Given the description of an element on the screen output the (x, y) to click on. 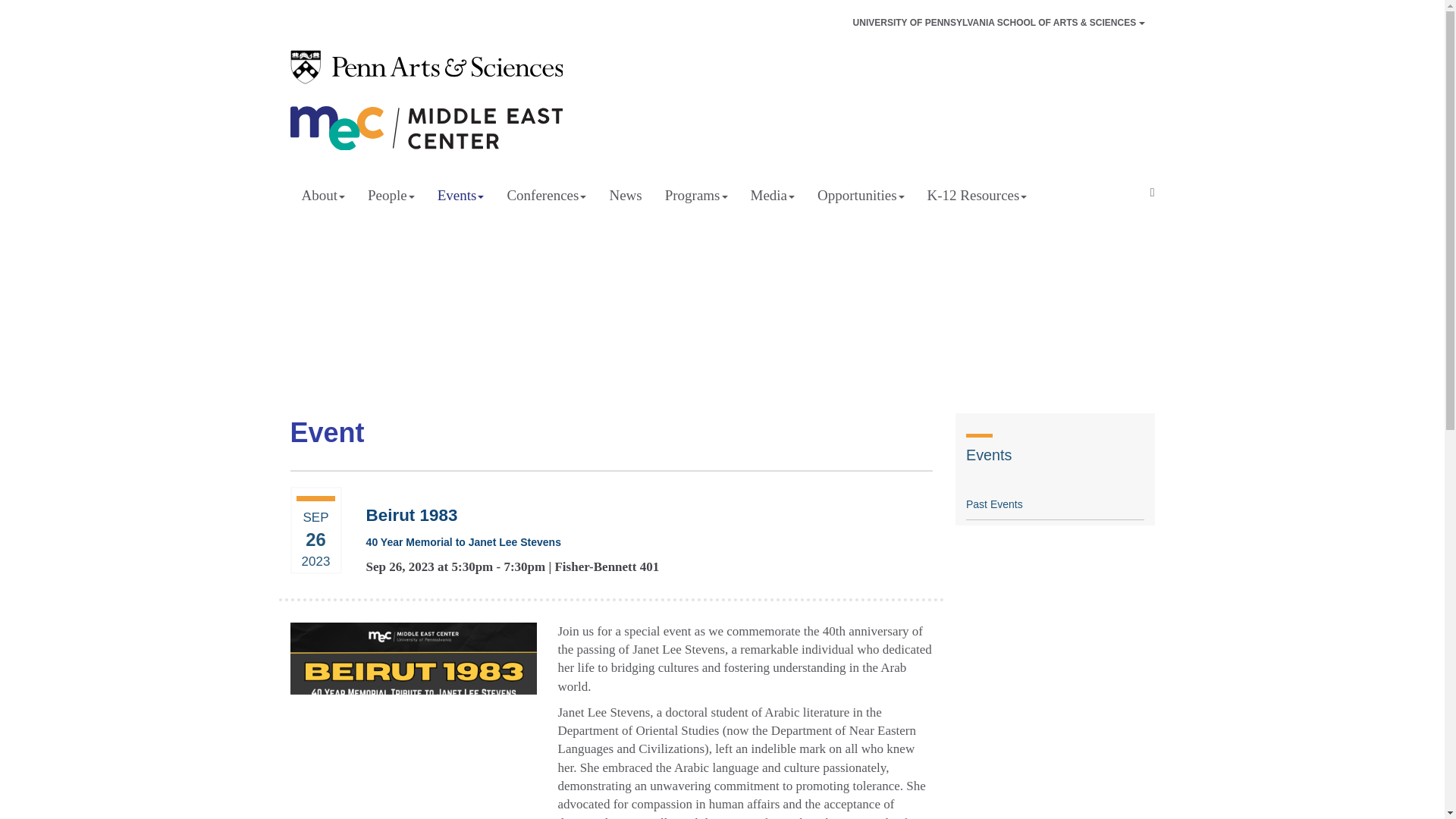
News (624, 195)
Programs (696, 195)
People (391, 195)
Conferences (545, 195)
Media (772, 195)
Opportunities (860, 195)
Events (461, 195)
About (322, 195)
